Given the description of an element on the screen output the (x, y) to click on. 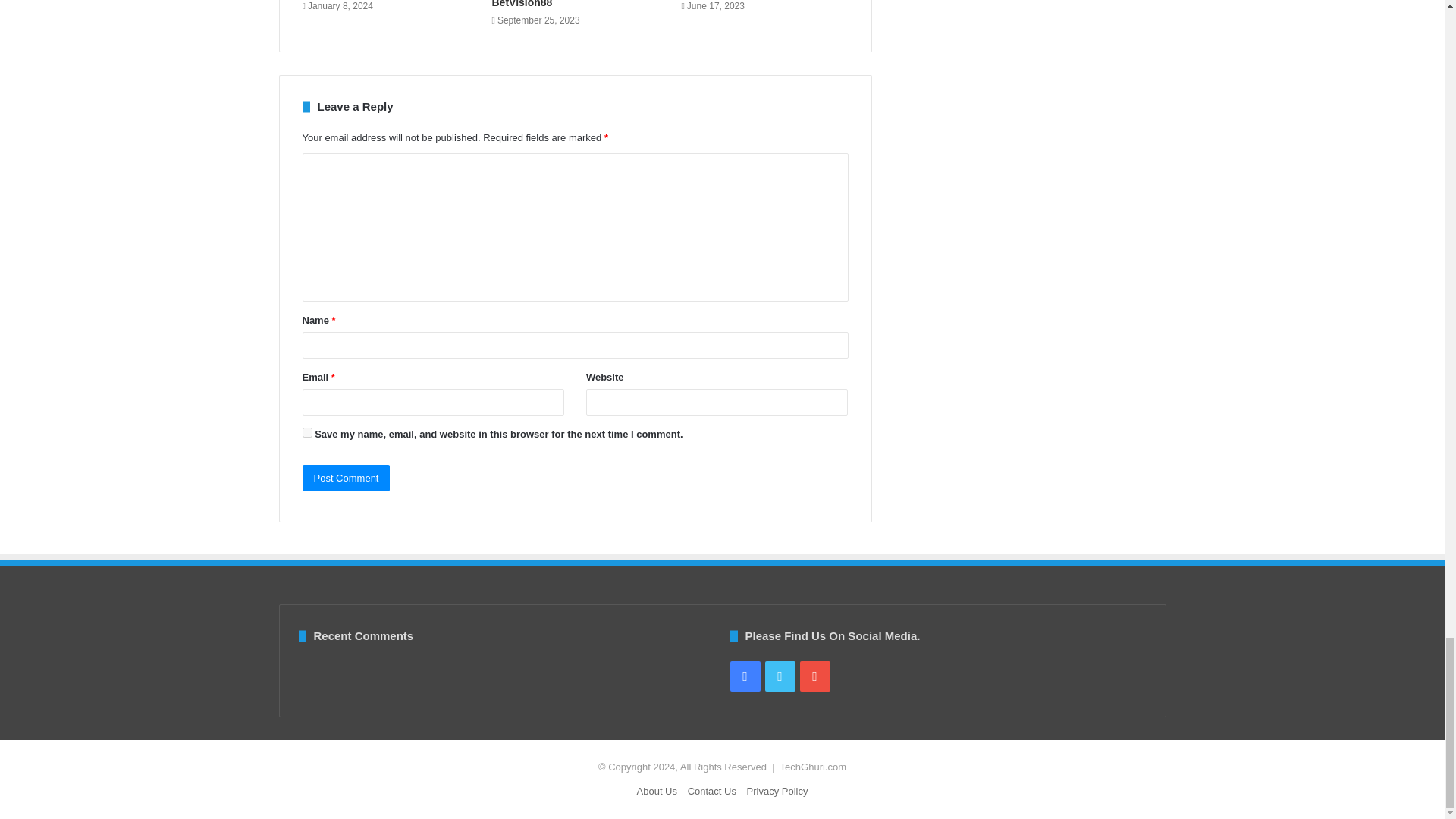
yes (306, 432)
Post Comment (345, 478)
